Given the description of an element on the screen output the (x, y) to click on. 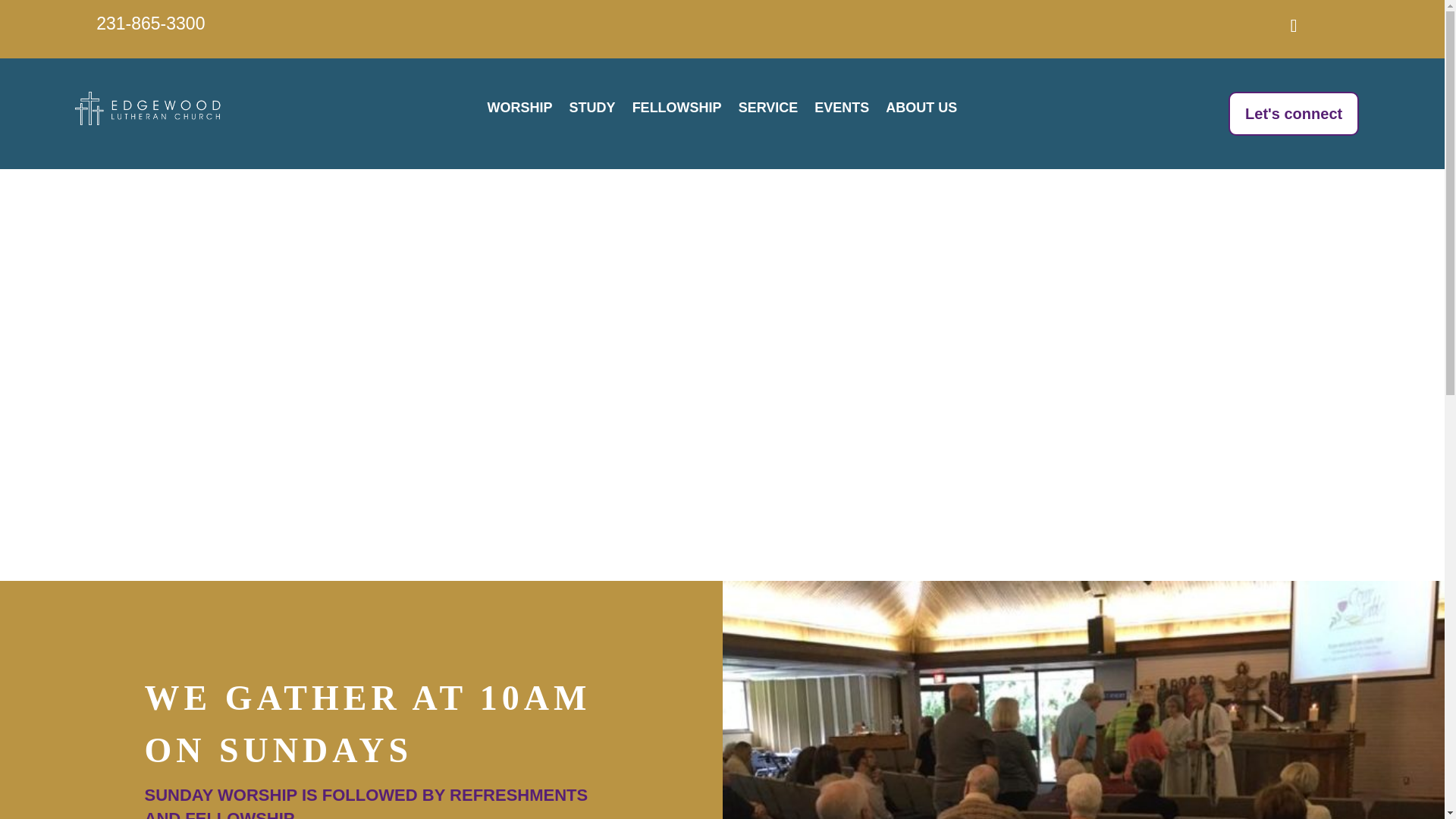
edgewoodlogo-01 (150, 108)
WORSHIP (520, 110)
EVENTS (841, 110)
ABOUT US (920, 110)
FELLOWSHIP (676, 110)
Follow on Facebook (1293, 25)
SERVICE (767, 110)
STUDY (592, 110)
Let's connect (1293, 113)
